Given the description of an element on the screen output the (x, y) to click on. 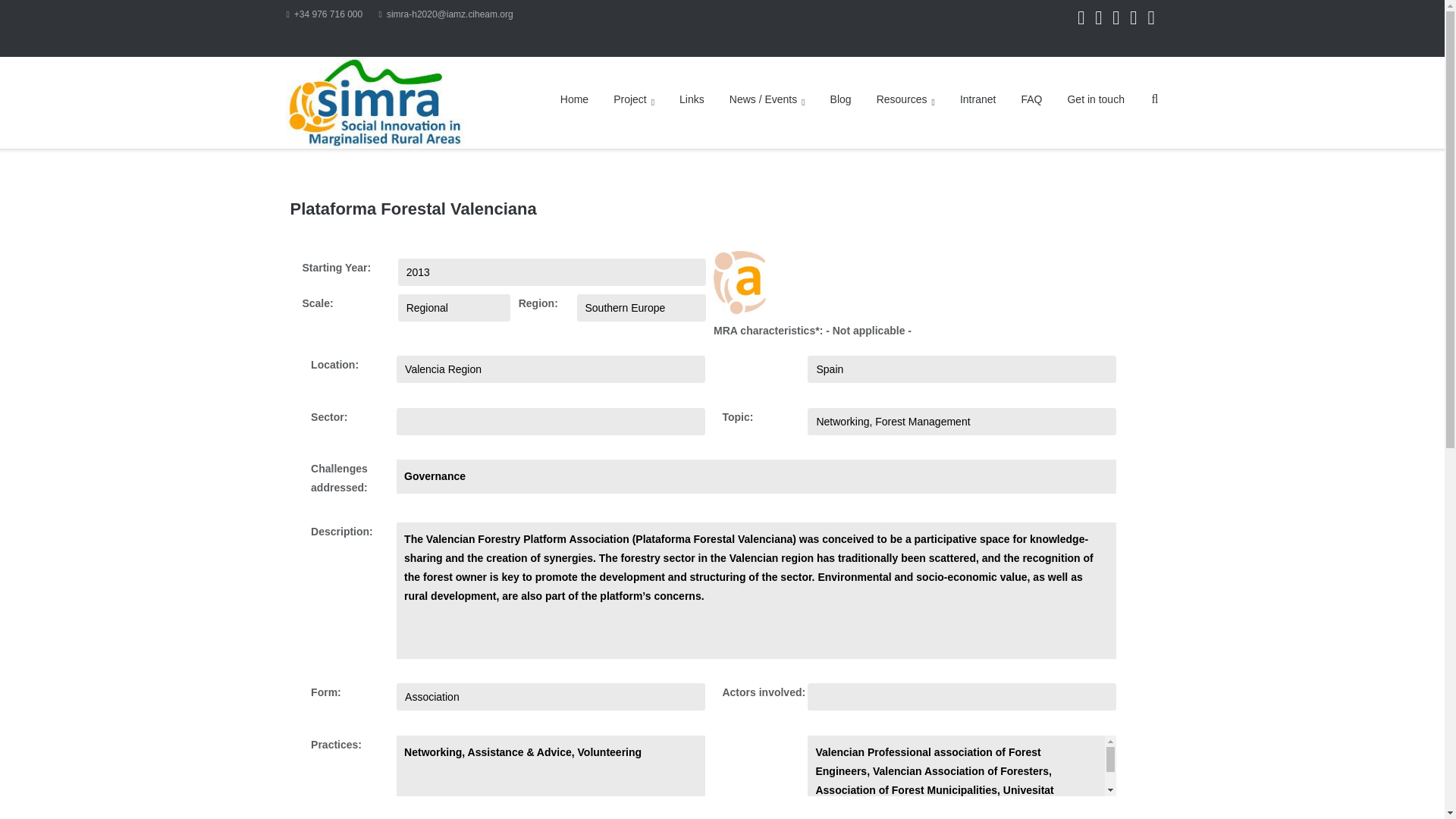
Regional (454, 307)
Networking, Forest Management (962, 420)
Southern Europe (640, 307)
Association (550, 696)
Spain (962, 369)
2013 (551, 271)
Valencia Region (550, 369)
